Given the description of an element on the screen output the (x, y) to click on. 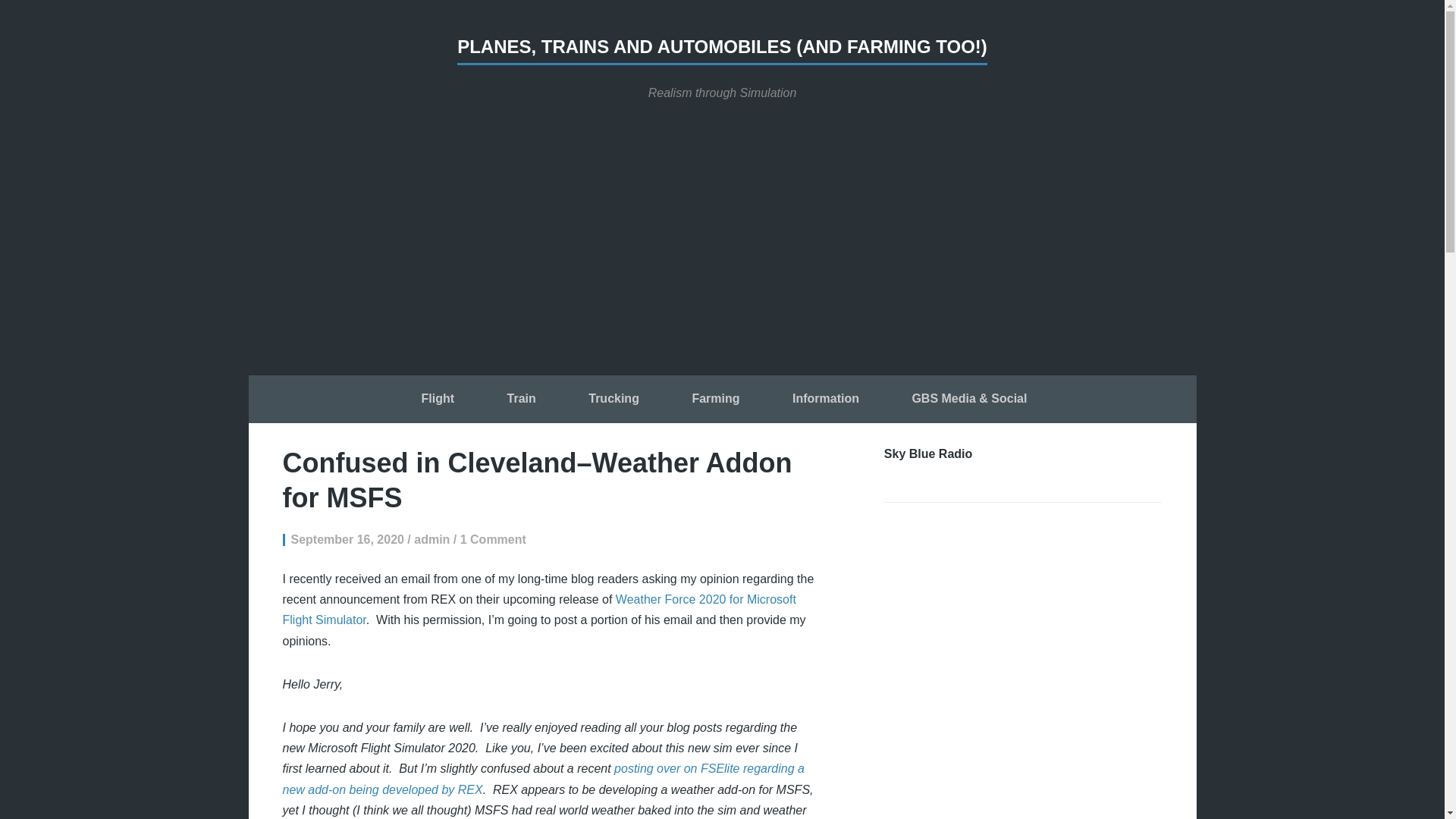
Flight (437, 400)
Weather Force 2020 for Microsoft Flight Simulator (538, 609)
Trucking (613, 400)
Train (521, 400)
Information (825, 400)
Farming (715, 400)
